Given the description of an element on the screen output the (x, y) to click on. 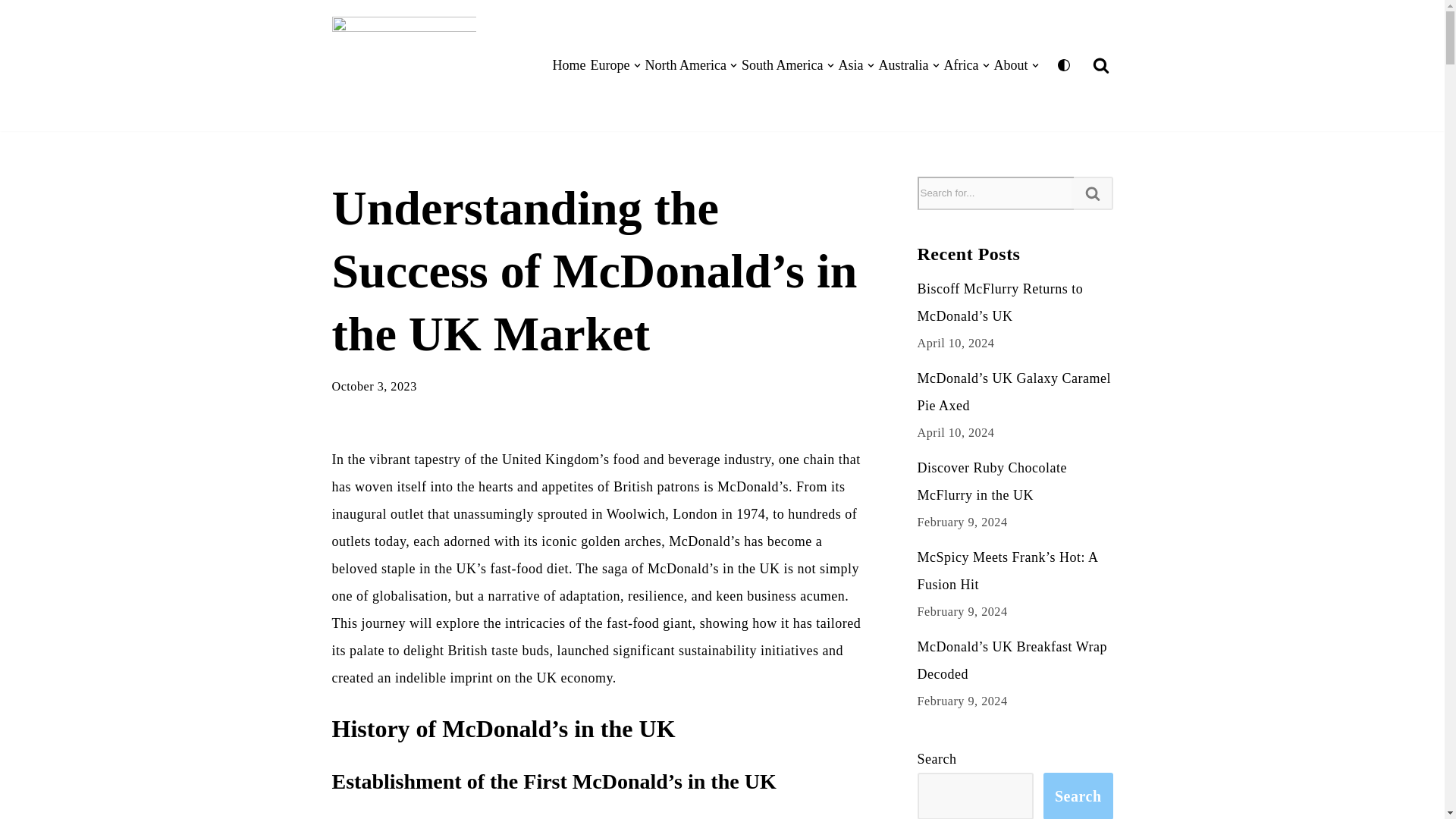
Asia (856, 65)
Home (569, 65)
globalmcdonaldsmenu (407, 65)
Africa (966, 65)
North America (690, 65)
Skip to content (11, 31)
South America (786, 65)
Australia (909, 65)
Europe (615, 65)
